Given the description of an element on the screen output the (x, y) to click on. 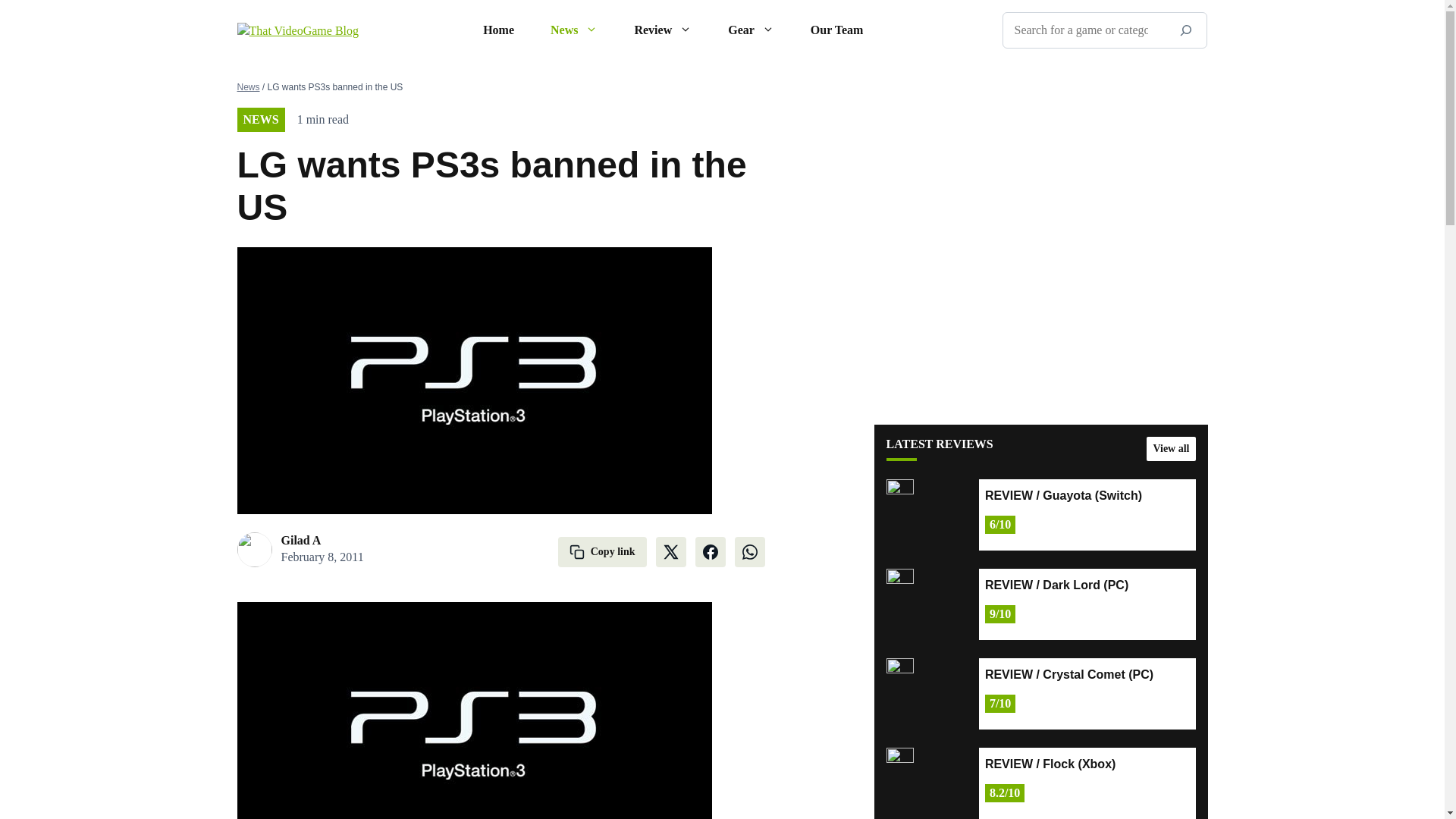
Review (662, 29)
Home (498, 29)
Gear (751, 29)
News (573, 29)
